Given the description of an element on the screen output the (x, y) to click on. 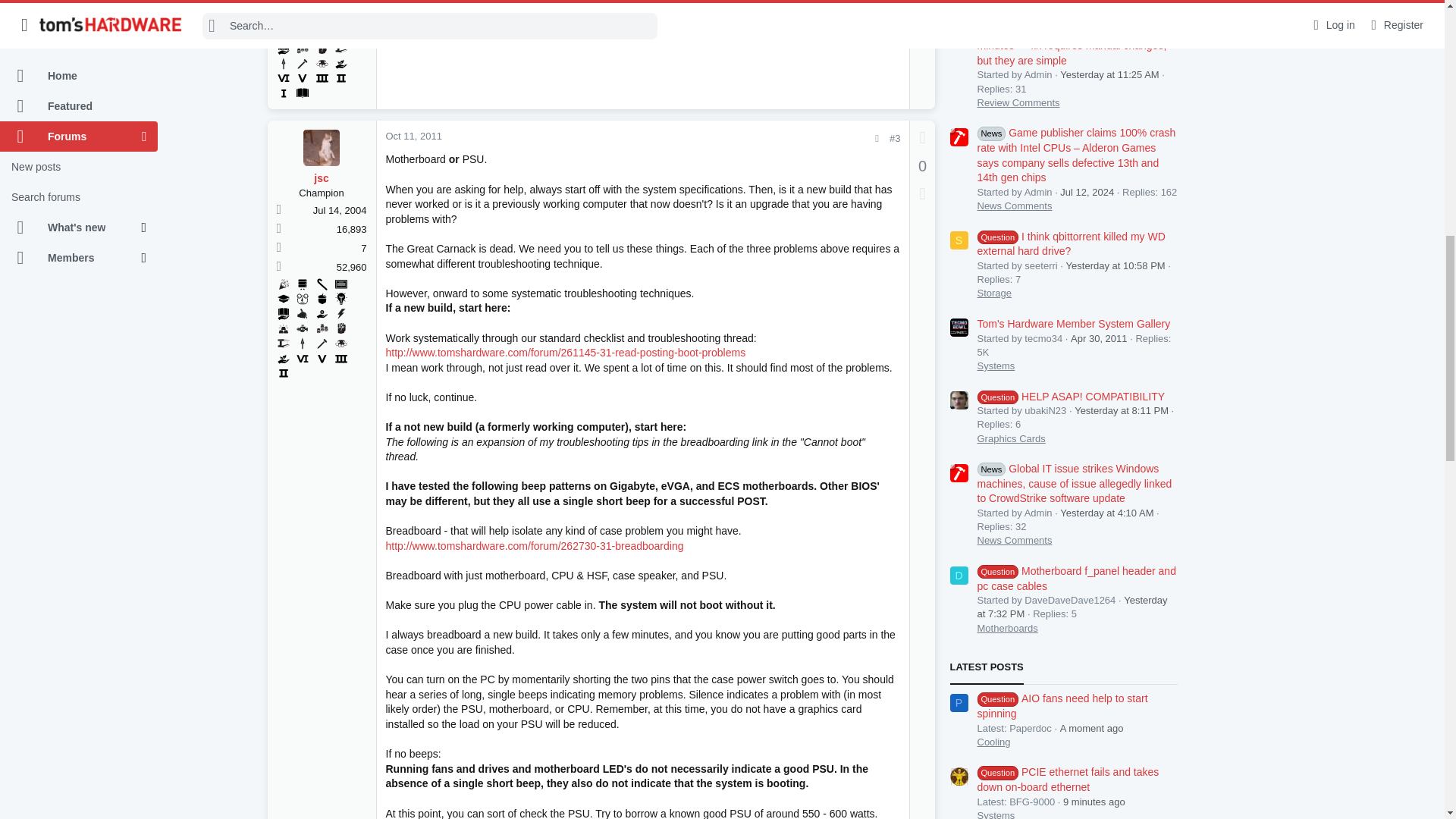
Jul 19, 2024 at 4:10 AM (1106, 512)
Jul 19, 2024 at 11:25 AM (1108, 74)
Apr 30, 2011 at 5:38 PM (1098, 337)
Jul 19, 2024 at 10:58 PM (1115, 265)
Oct 11, 2011 at 8:34 AM (413, 135)
Jul 12, 2024 at 1:25 PM (1086, 192)
Jul 19, 2024 at 8:11 PM (1121, 410)
Jul 19, 2024 at 7:32 PM (1071, 606)
